Given the description of an element on the screen output the (x, y) to click on. 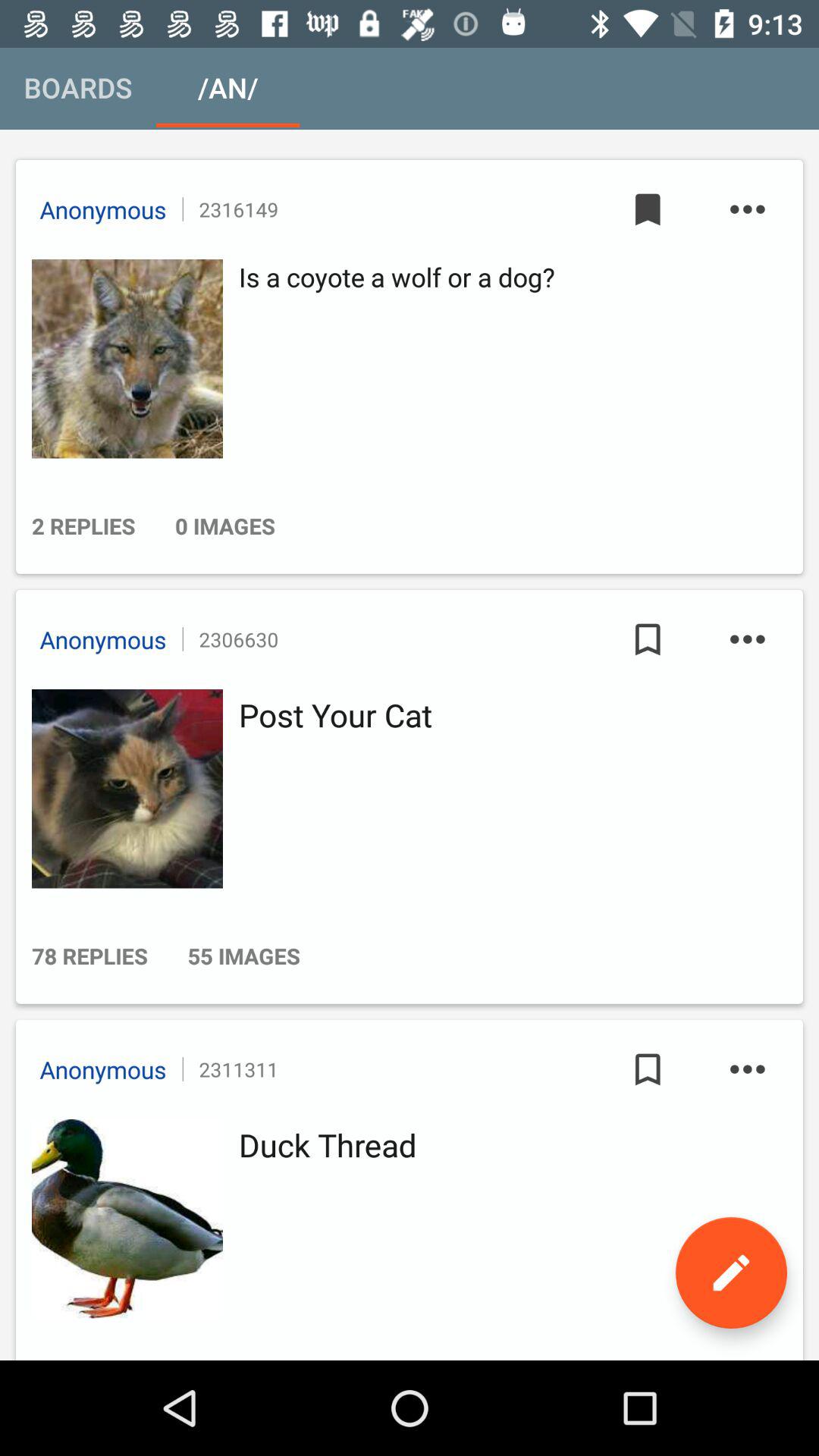
press to write (731, 1272)
